Given the description of an element on the screen output the (x, y) to click on. 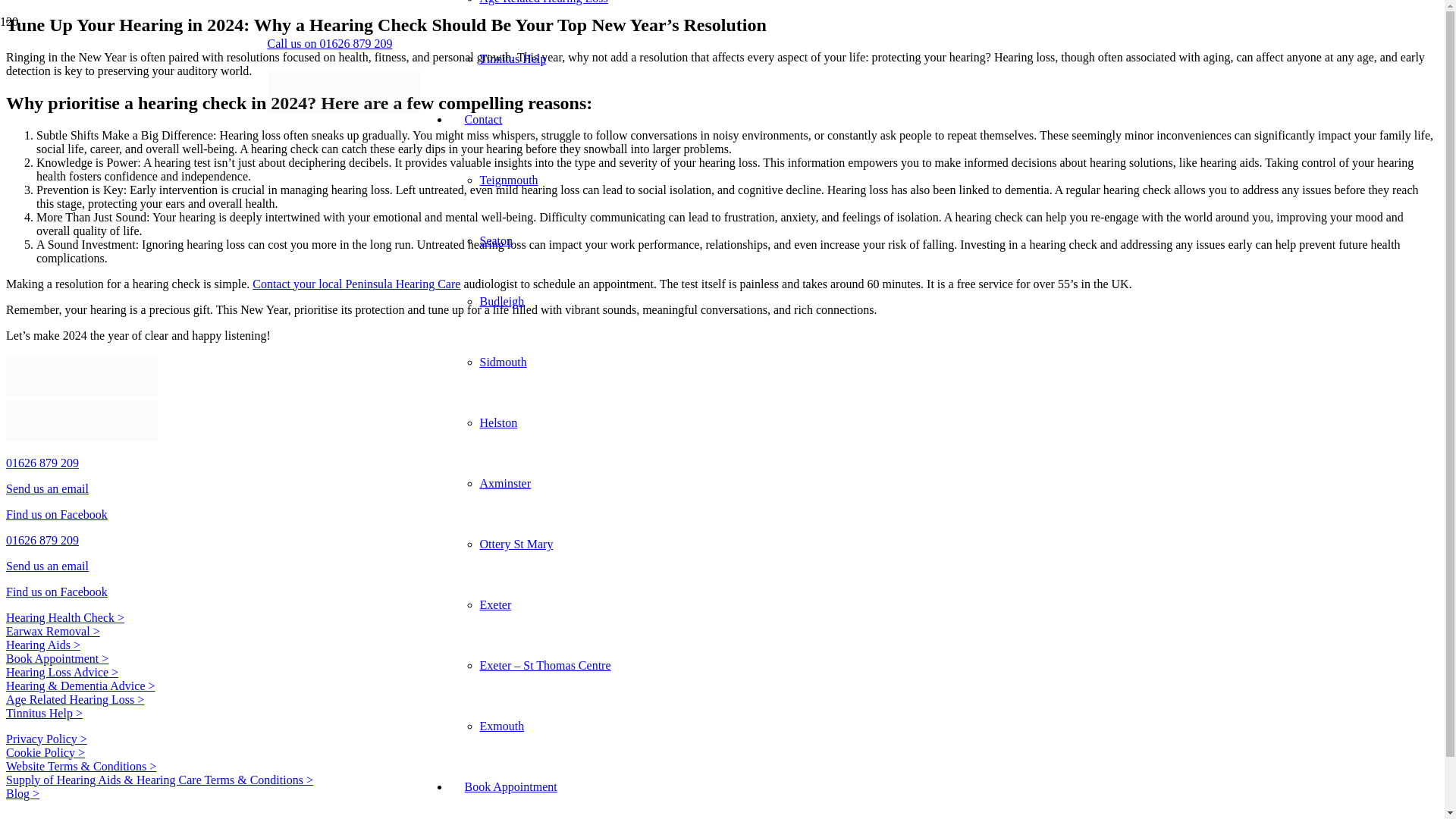
Contact your local Peninsula Hearing Care (355, 283)
Budleigh (501, 300)
Send us an email (46, 488)
Helston (497, 422)
Exmouth (501, 725)
Teignmouth (508, 179)
Tinnitus Help (512, 58)
Age Related Hearing Loss (543, 2)
Book Appointment (510, 786)
Seaton (495, 240)
Exeter (495, 604)
Contact (482, 119)
Sidmouth (502, 361)
Ottery St Mary (516, 543)
Axminster (505, 482)
